Given the description of an element on the screen output the (x, y) to click on. 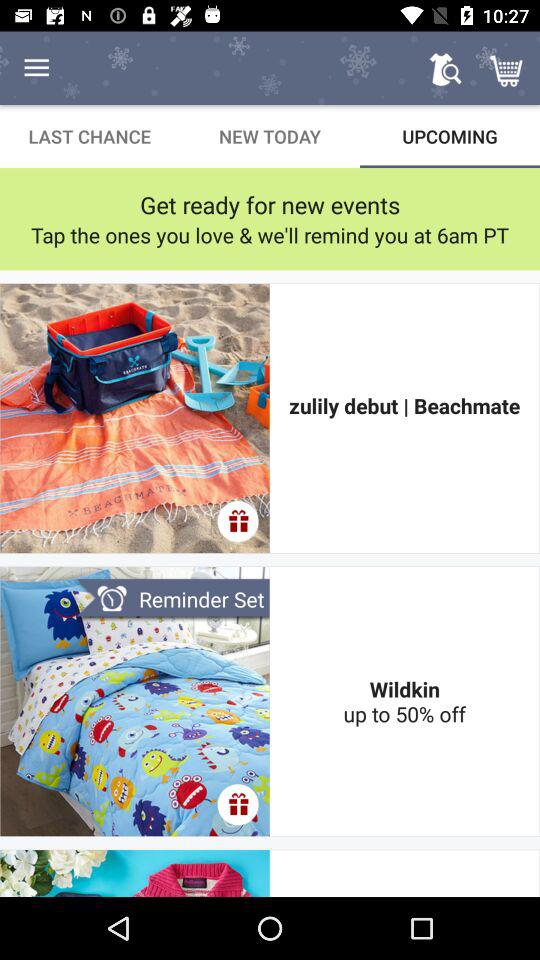
tap little lovely layered (404, 873)
